Given the description of an element on the screen output the (x, y) to click on. 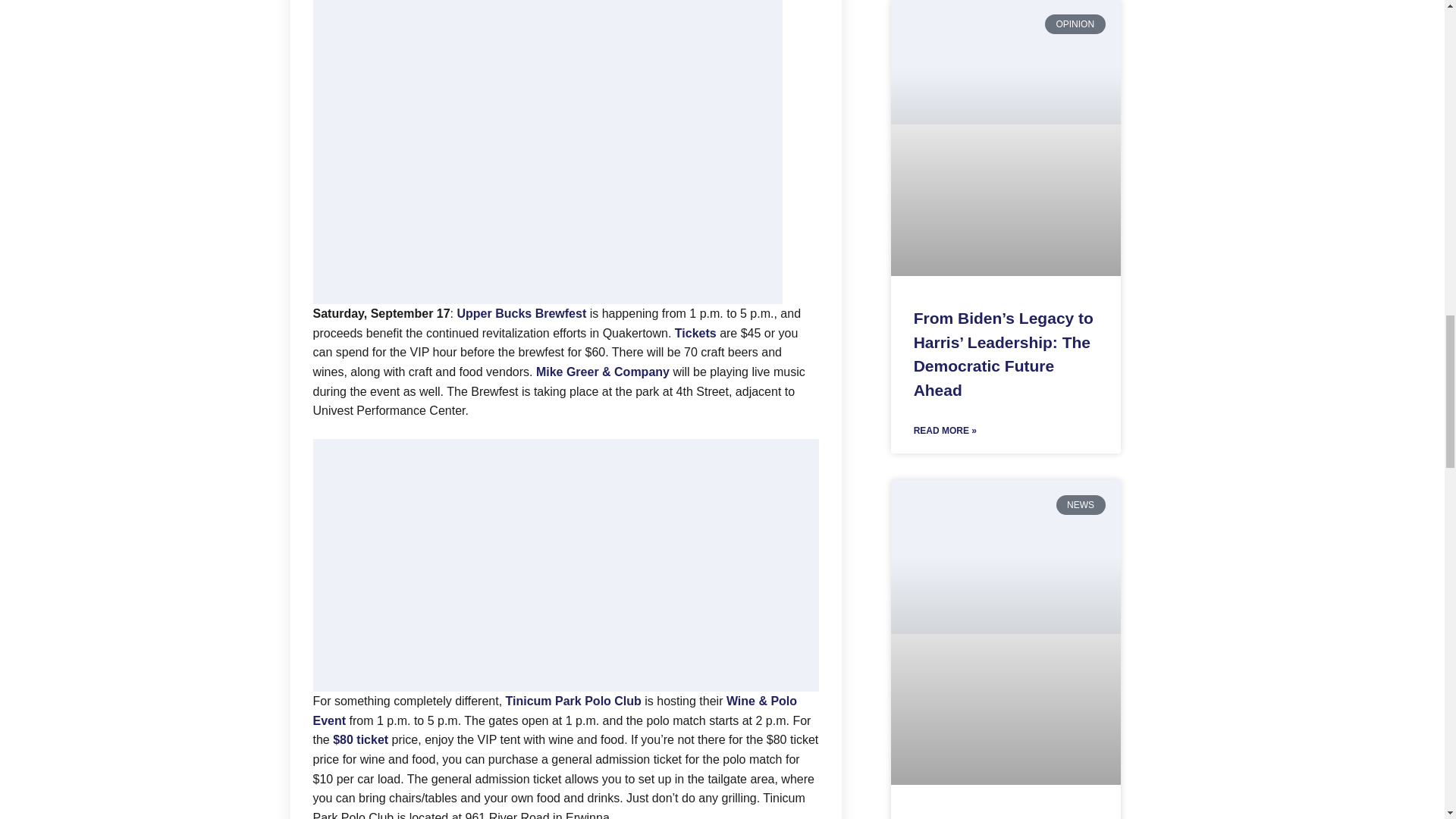
Upper Bucks Brewfest (521, 313)
Tinicum Park Polo Club (573, 700)
Tickets (695, 332)
